Given the description of an element on the screen output the (x, y) to click on. 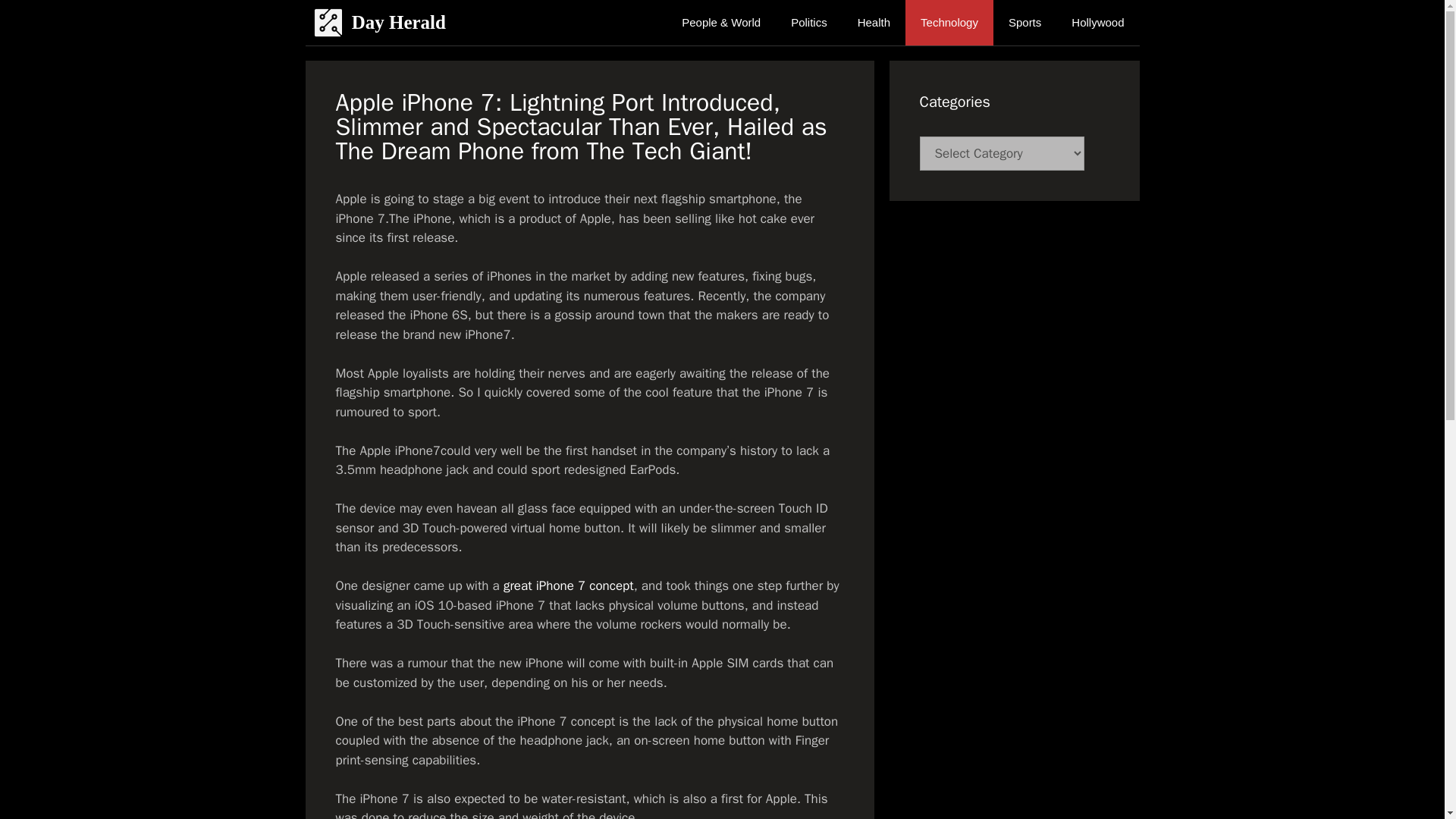
Politics (809, 22)
Sports (1024, 22)
Hollywood (1097, 22)
Day Herald (398, 22)
Technology (948, 22)
great iPhone 7 concept (568, 585)
Health (874, 22)
